Given the description of an element on the screen output the (x, y) to click on. 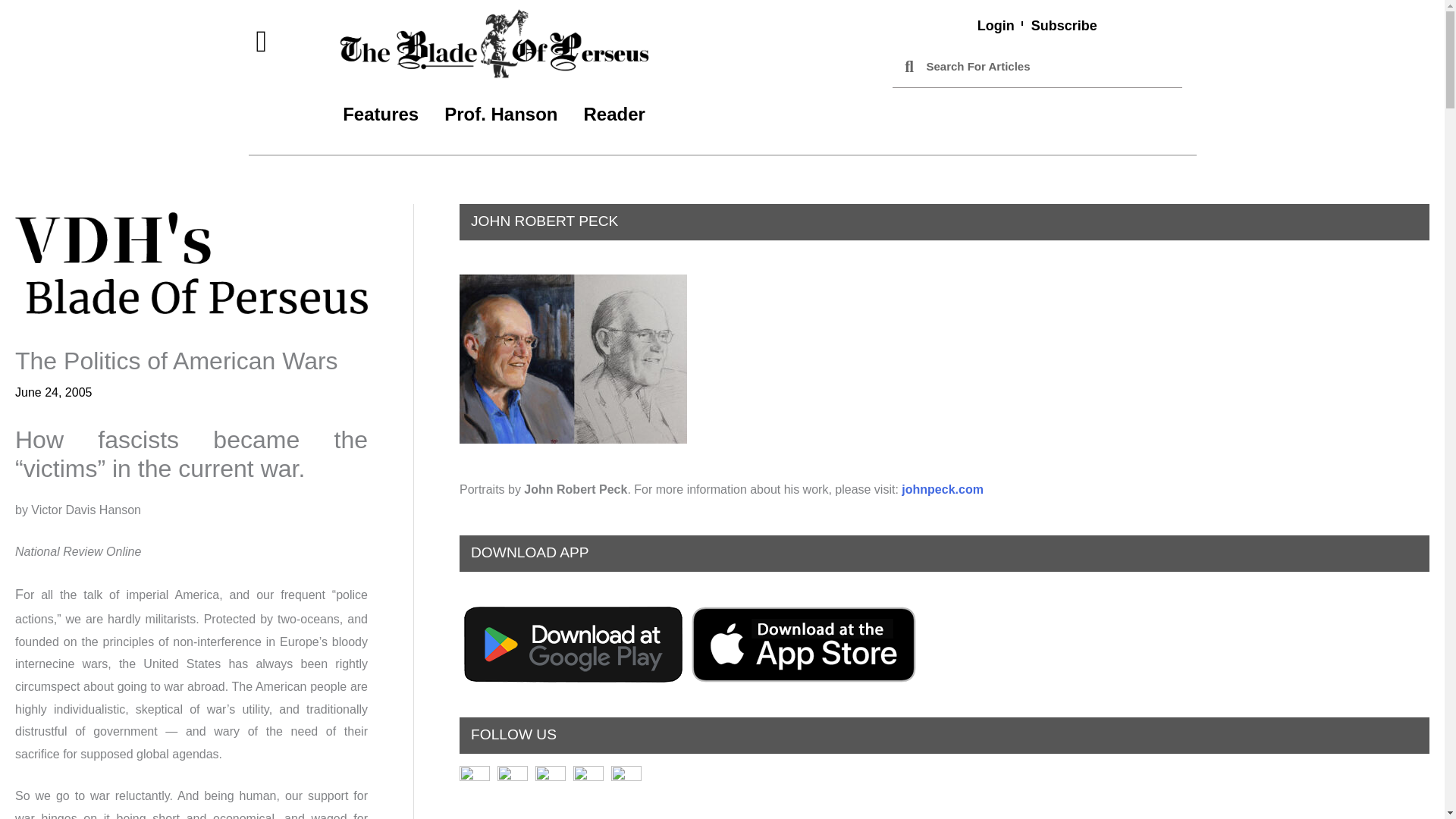
Features (380, 114)
Prof. Hanson (500, 114)
Login (996, 25)
Subscribe (1064, 25)
Reader (614, 114)
